Given the description of an element on the screen output the (x, y) to click on. 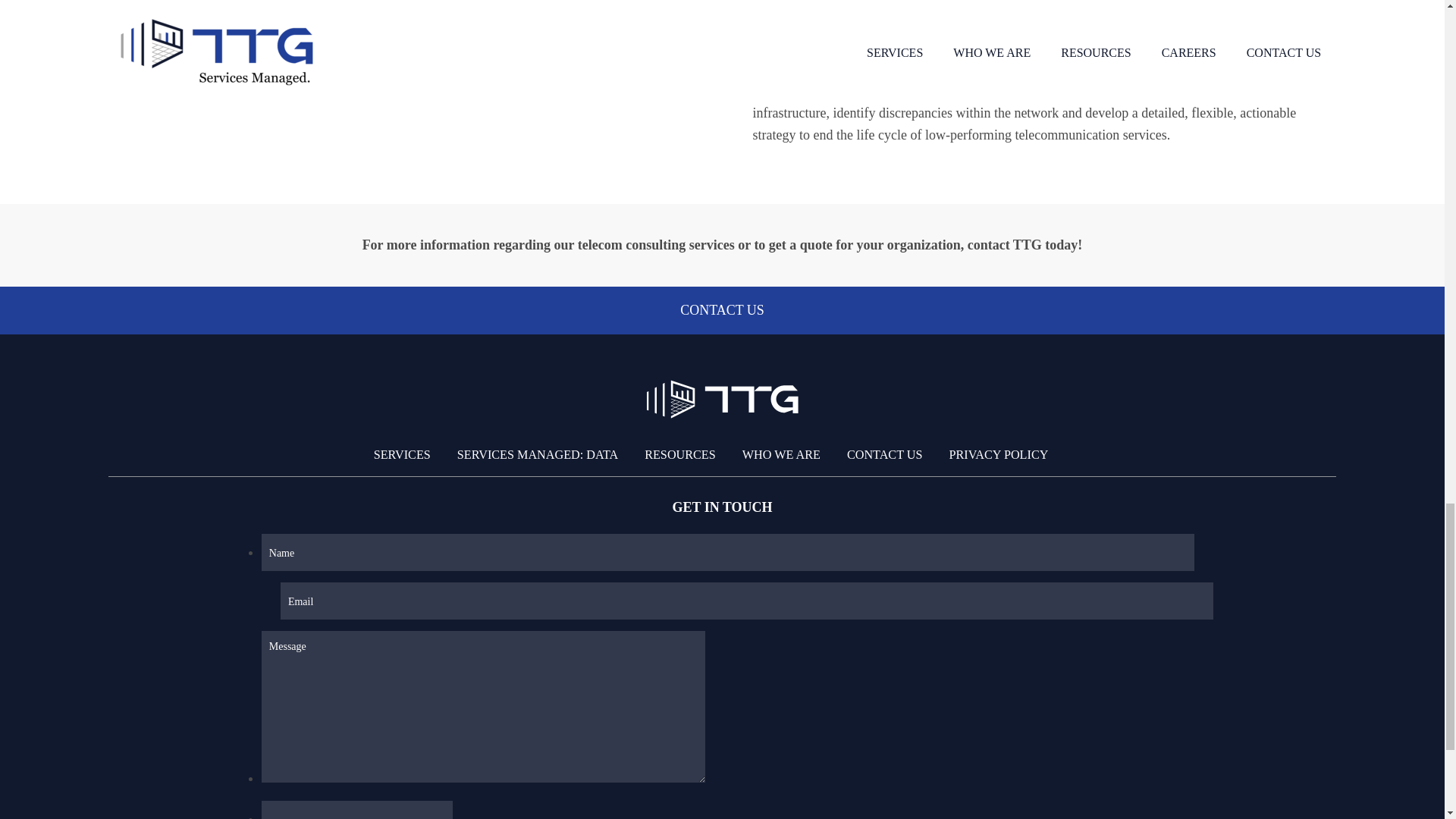
PRIVACY POLICY (998, 454)
SERVICES MANAGED: DATA (536, 454)
RESOURCES (679, 454)
WHO WE ARE (780, 454)
SERVICES (402, 454)
CONTACT US (884, 454)
